Given the description of an element on the screen output the (x, y) to click on. 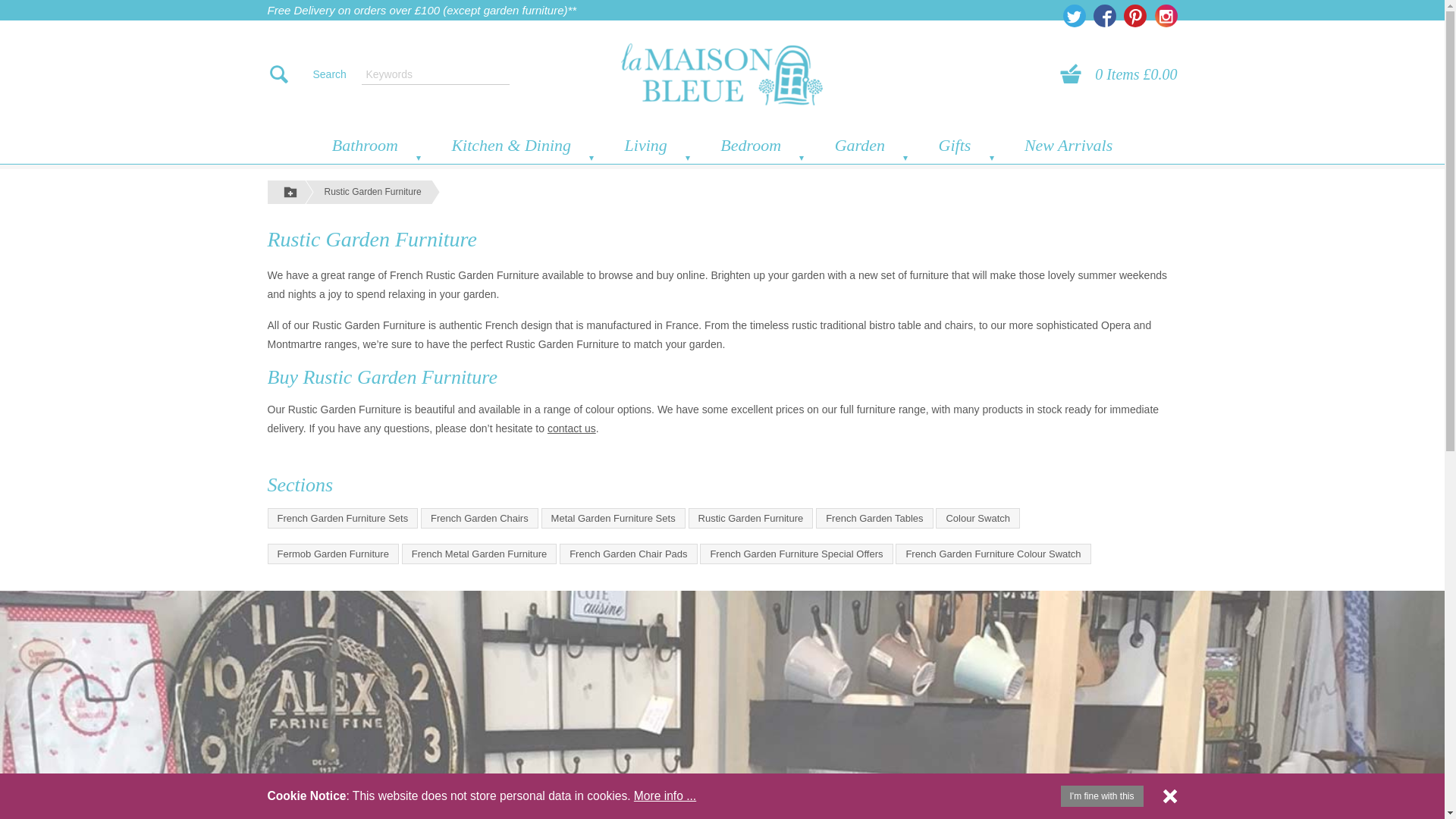
View your basket (1135, 73)
Bathroom (364, 144)
Show Breadcrumbs (289, 191)
View your basket (1074, 74)
Go (144, 9)
Dismiss - I'm fine with this (1169, 795)
